Given the description of an element on the screen output the (x, y) to click on. 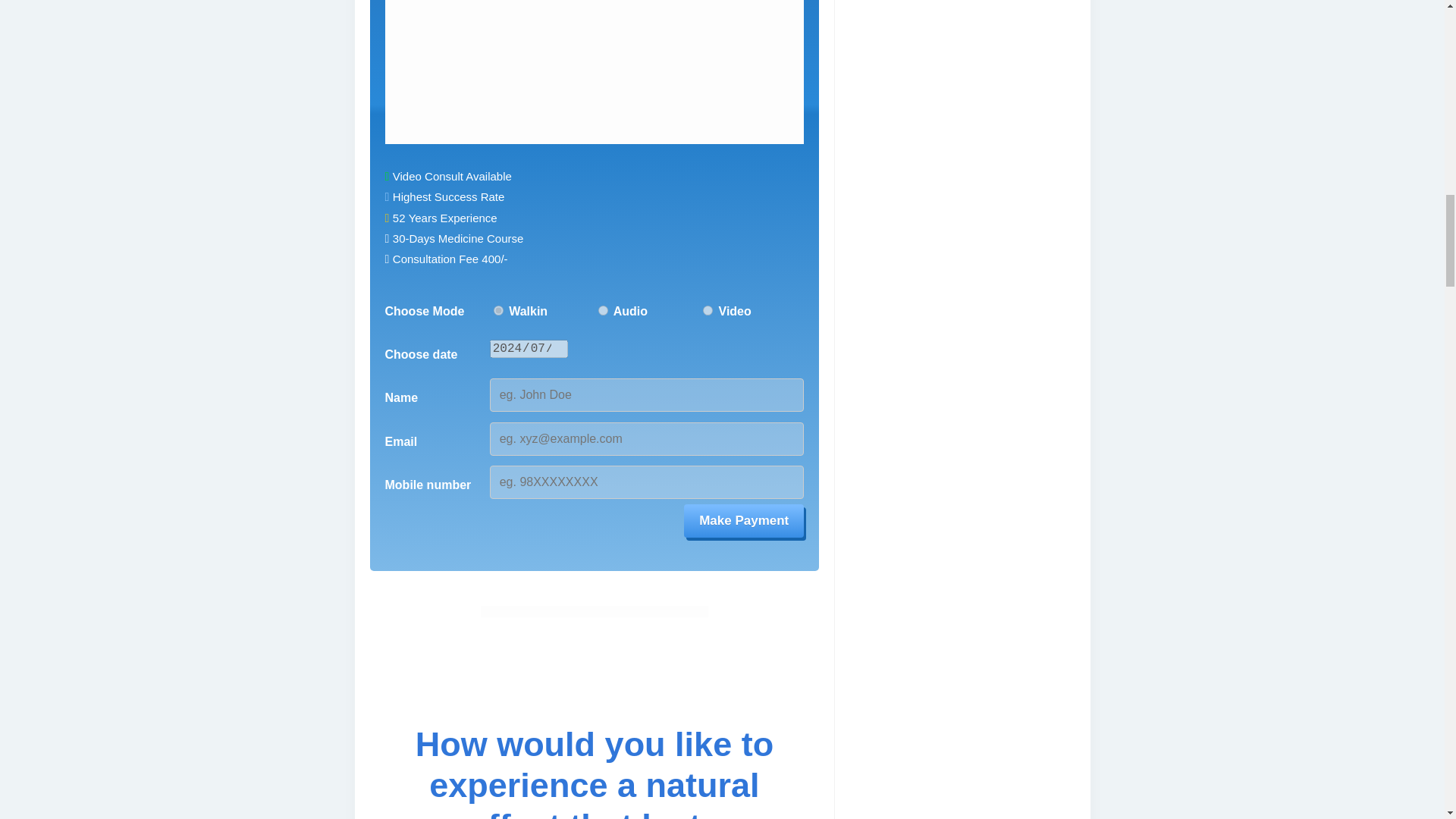
2024-07-24 (529, 348)
Audio (603, 310)
Video (708, 310)
Make Payment (743, 520)
Walkin (498, 310)
